Given the description of an element on the screen output the (x, y) to click on. 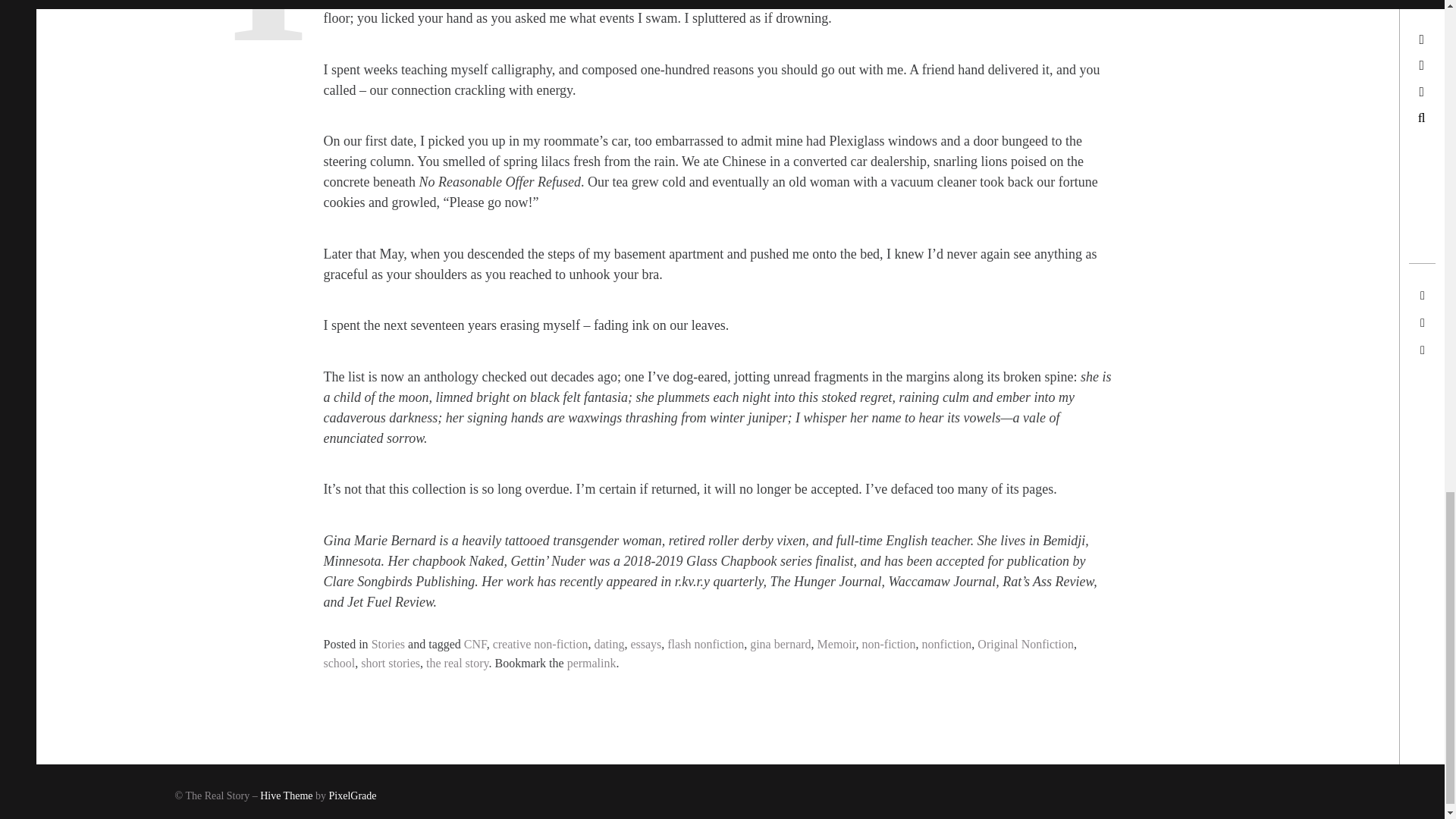
PixelGrade (353, 795)
dating (609, 644)
CNF (475, 644)
school (339, 662)
creative non-fiction (540, 644)
short stories (390, 662)
essays (645, 644)
permalink (591, 662)
nonfiction (946, 644)
the real story (456, 662)
